Given the description of an element on the screen output the (x, y) to click on. 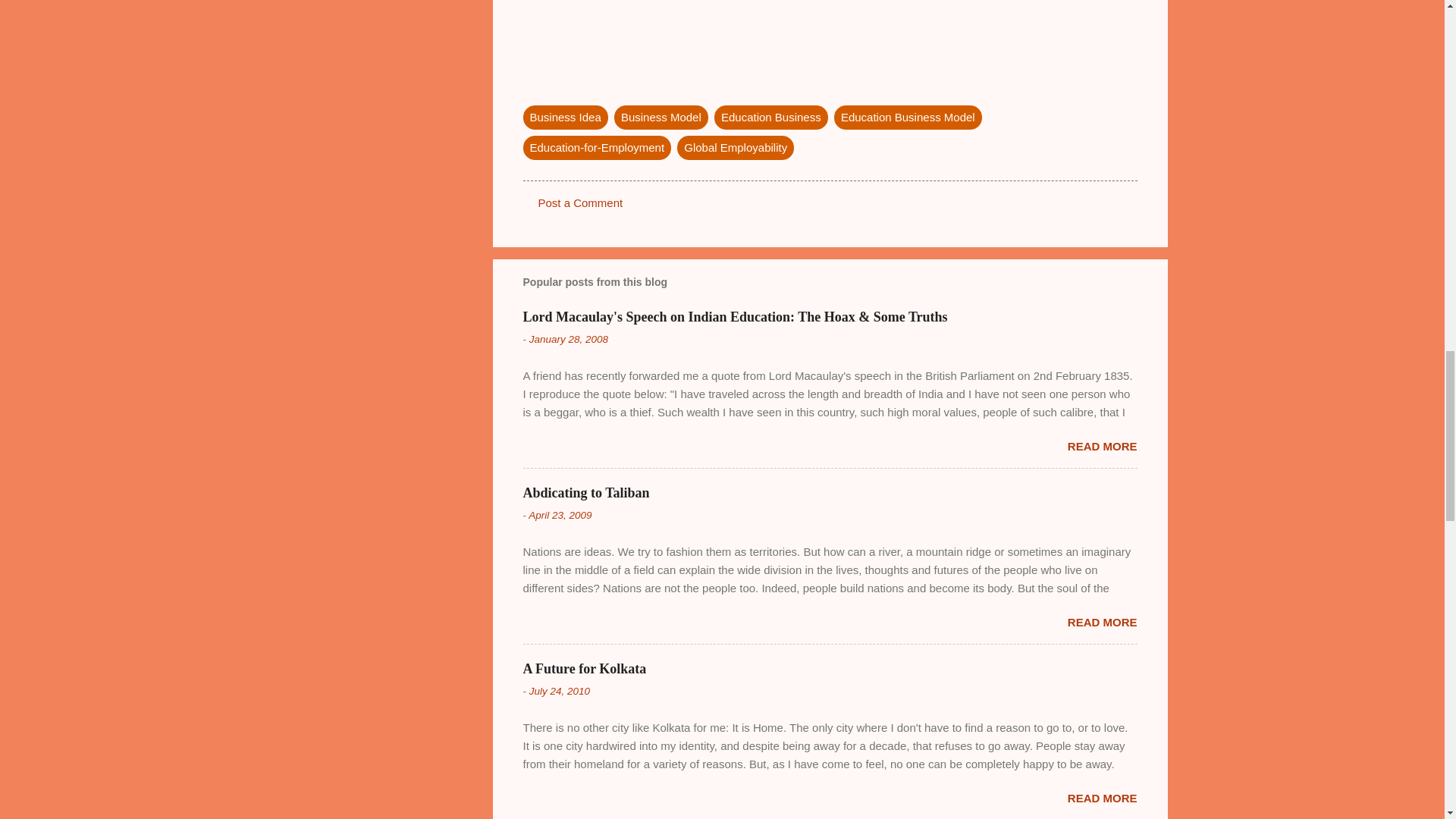
Education Business Model (907, 116)
April 23, 2009 (559, 514)
Education-for-Employment (596, 146)
READ MORE (1102, 797)
Business Idea (565, 116)
Abdicating to Taliban (585, 492)
January 28, 2008 (568, 338)
Email Post (531, 86)
Education Business (771, 116)
A Future for Kolkata (584, 668)
Global Employability (735, 146)
READ MORE (1102, 445)
permanent link (568, 338)
Business Model (660, 116)
Post a Comment (580, 202)
